Given the description of an element on the screen output the (x, y) to click on. 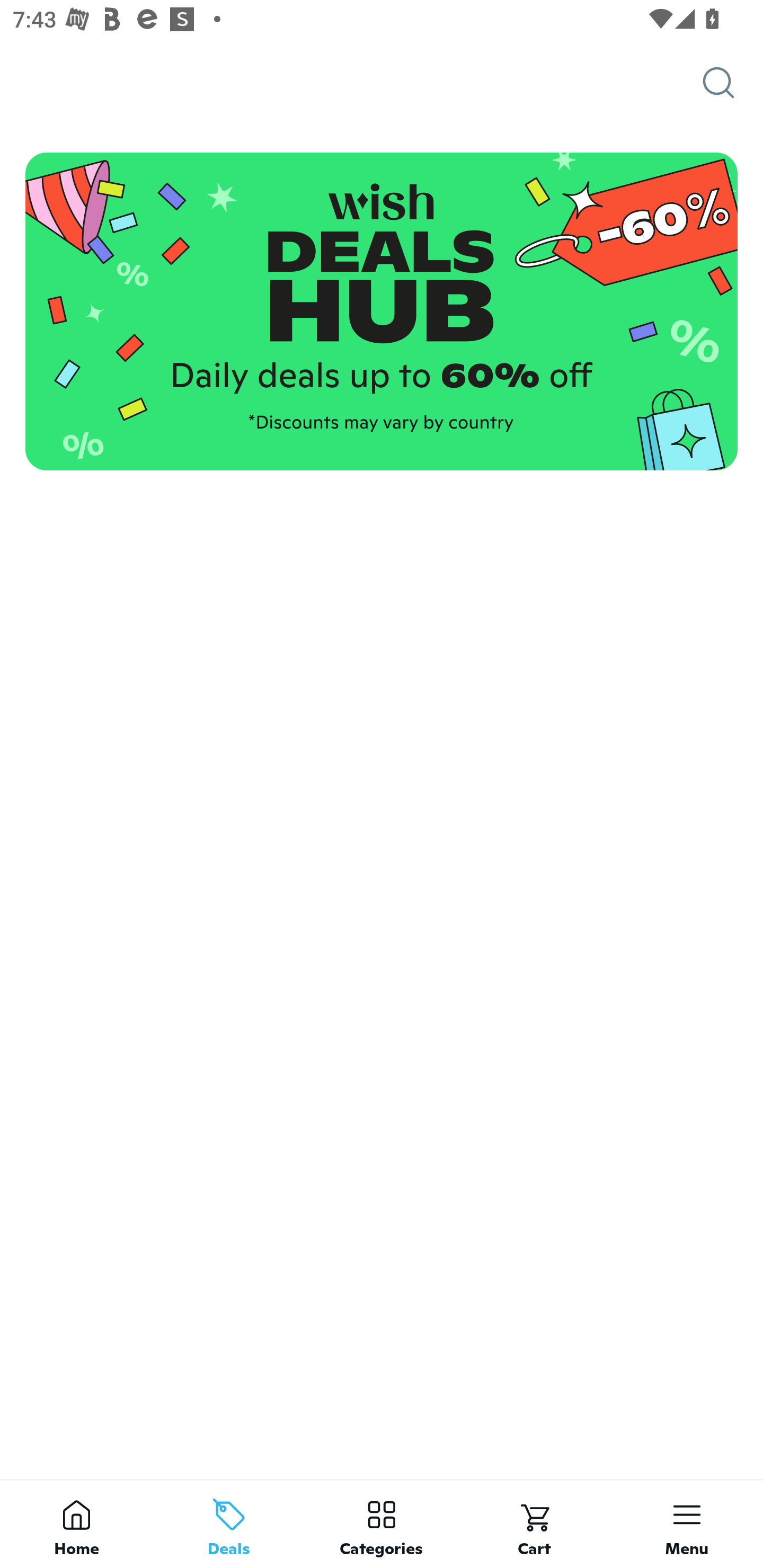
Search (732, 82)
Home (76, 1523)
Deals (228, 1523)
Categories (381, 1523)
Cart (533, 1523)
Menu (686, 1523)
